Given the description of an element on the screen output the (x, y) to click on. 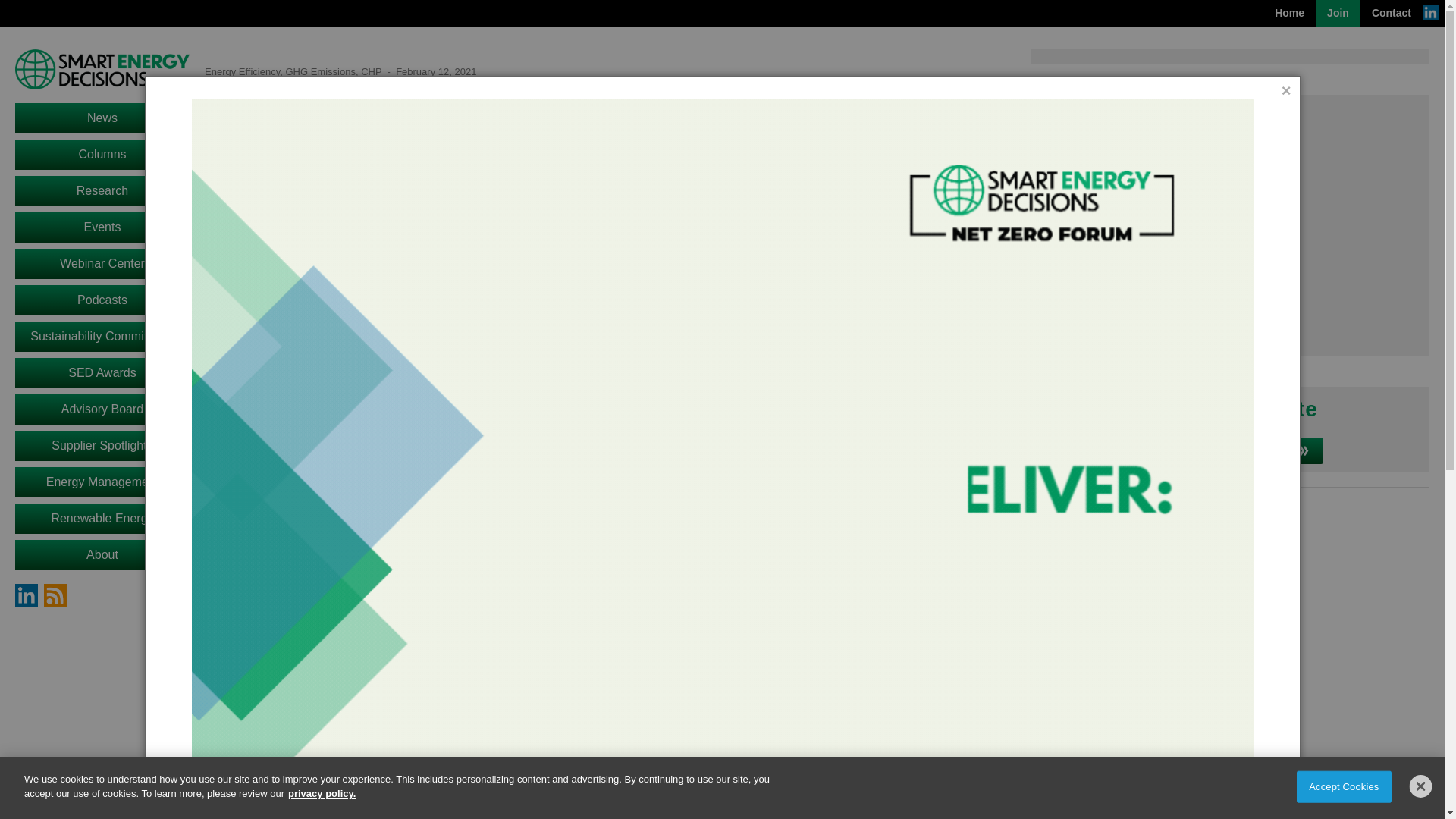
3rd party ad content (1229, 608)
Highlights of Net Zero Forum Spring (1230, 228)
